Given the description of an element on the screen output the (x, y) to click on. 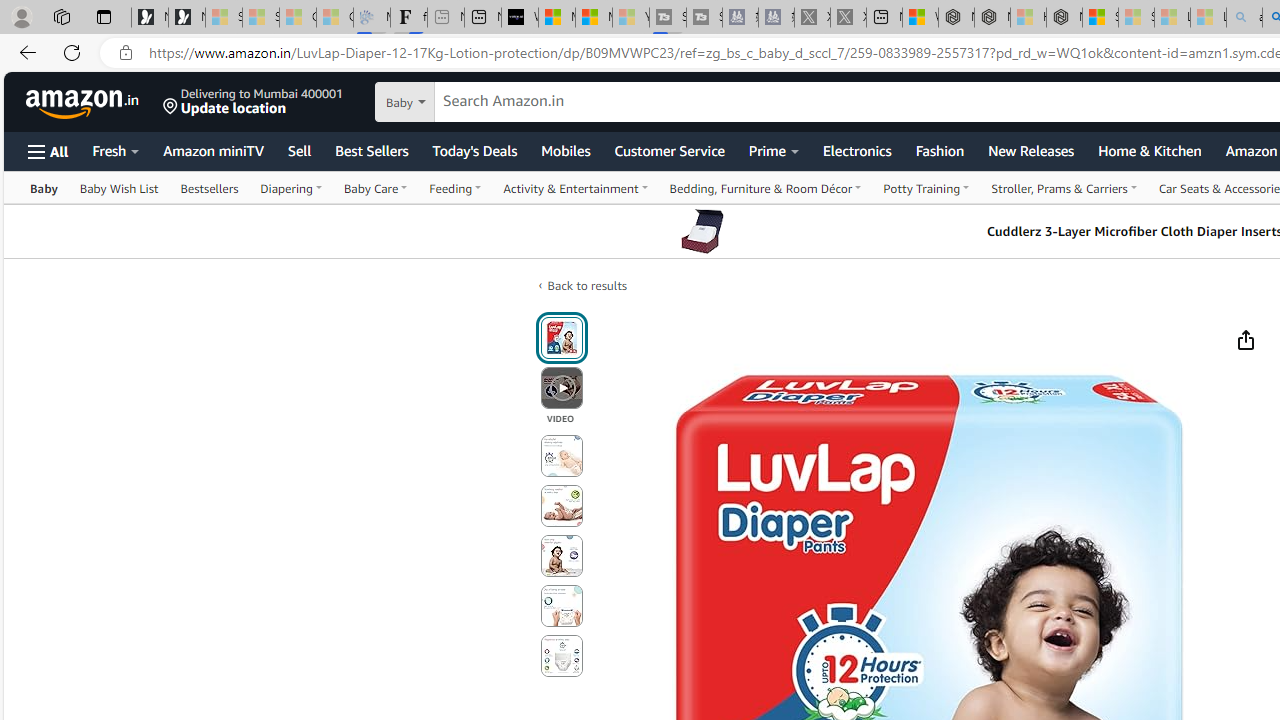
X - Sleeping (848, 17)
Newsletter Sign Up (186, 17)
amazon - Search - Sleeping (1244, 17)
Nordace - Nordace Siena Is Not An Ordinary Backpack (1064, 17)
